Given the description of an element on the screen output the (x, y) to click on. 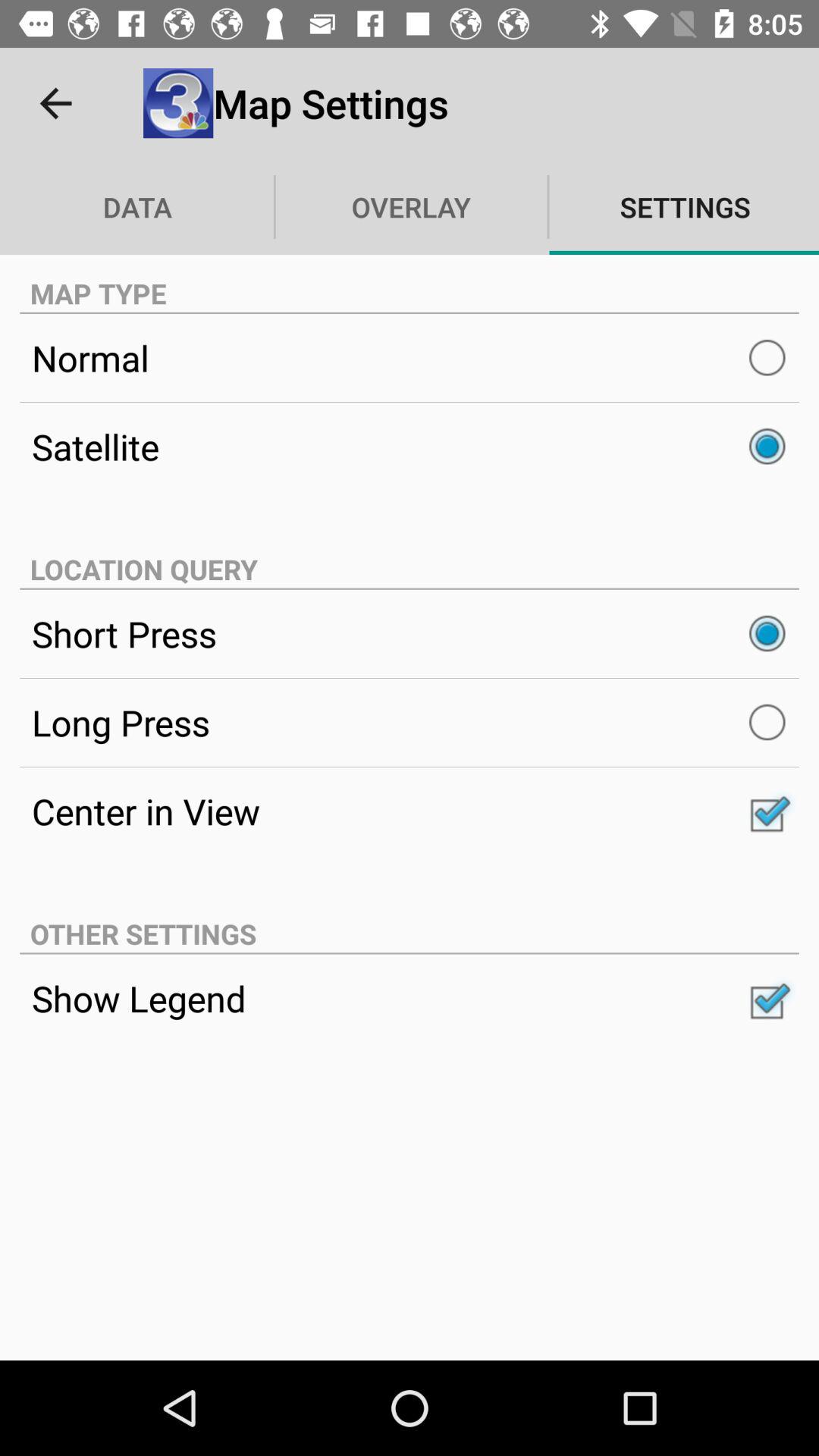
click the short press (409, 633)
